Given the description of an element on the screen output the (x, y) to click on. 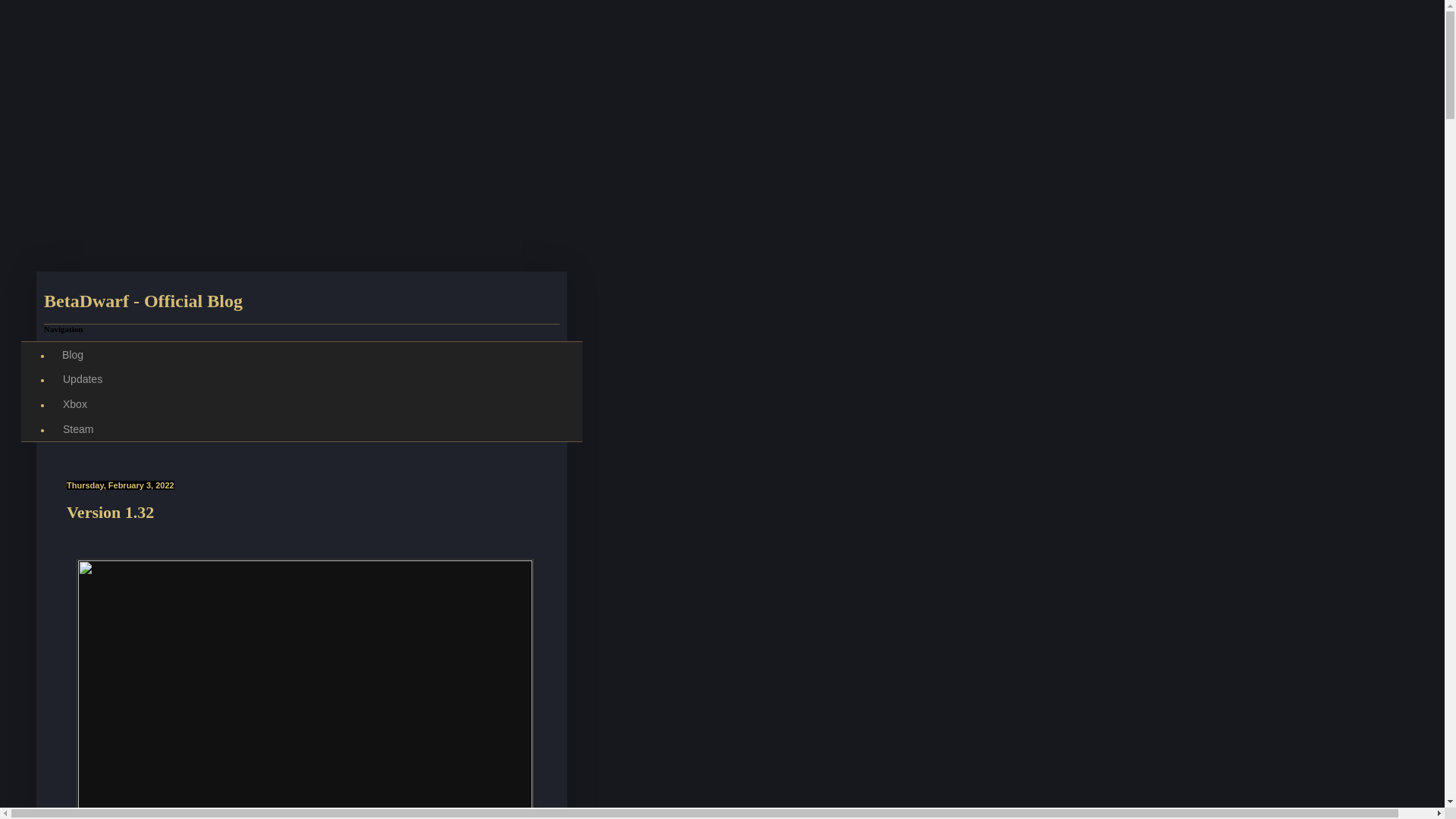
Updates (81, 379)
Blog (72, 354)
Steam (76, 429)
BetaDwarf - Official Blog (143, 301)
Xbox (73, 404)
